Given the description of an element on the screen output the (x, y) to click on. 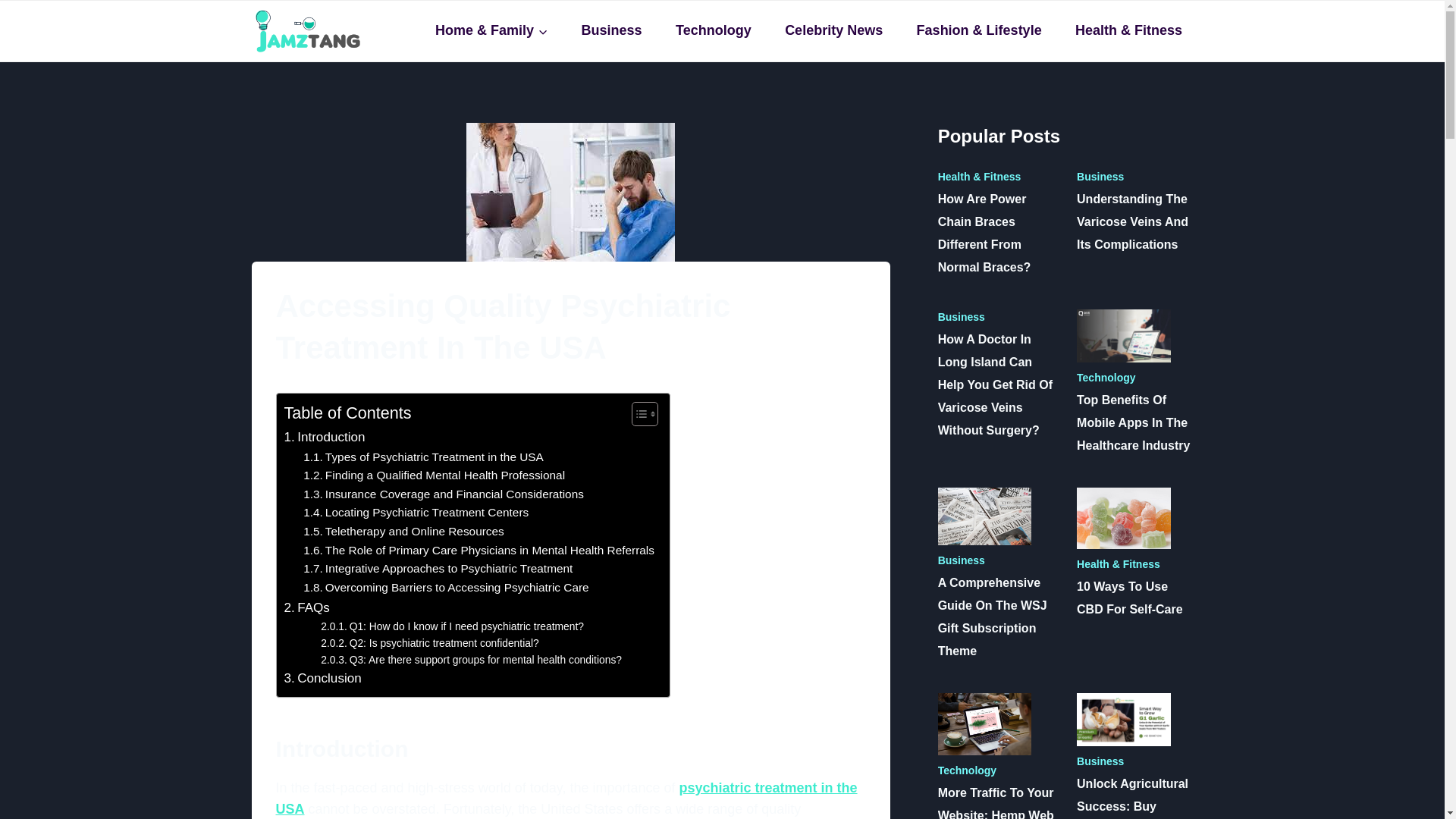
 Integrative Approaches to Psychiatric Treatment (437, 568)
Conclusion (322, 678)
 Locating Psychiatric Treatment Centers (415, 512)
Q2: Is psychiatric treatment confidential? (429, 642)
Business (611, 30)
Accessing Quality Psychiatric Treatment In The Usa (570, 191)
 Insurance Coverage and Financial Considerations (442, 494)
FAQs (306, 607)
 Types of Psychiatric Treatment in the USA (422, 456)
Introduction (324, 436)
Overcoming Barriers to Accessing Psychiatric Care (445, 587)
 Finding a Qualified Mental Health Professional (433, 475)
Insurance Coverage and Financial Considerations (442, 494)
Integrative Approaches to Psychiatric Treatment (437, 568)
Overcoming Barriers to Accessing Psychiatric Care (445, 587)
